Given the description of an element on the screen output the (x, y) to click on. 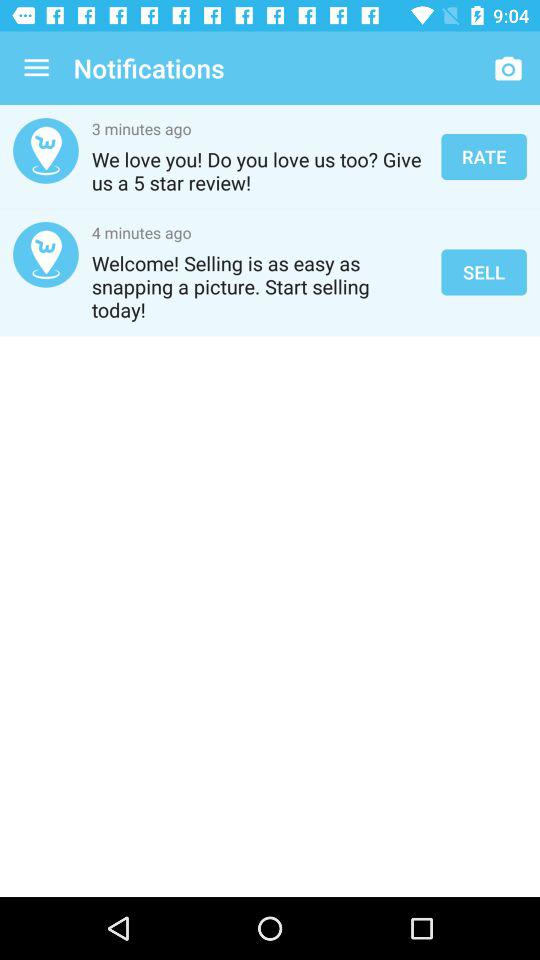
launch icon next to the 3 minutes ago icon (483, 156)
